Given the description of an element on the screen output the (x, y) to click on. 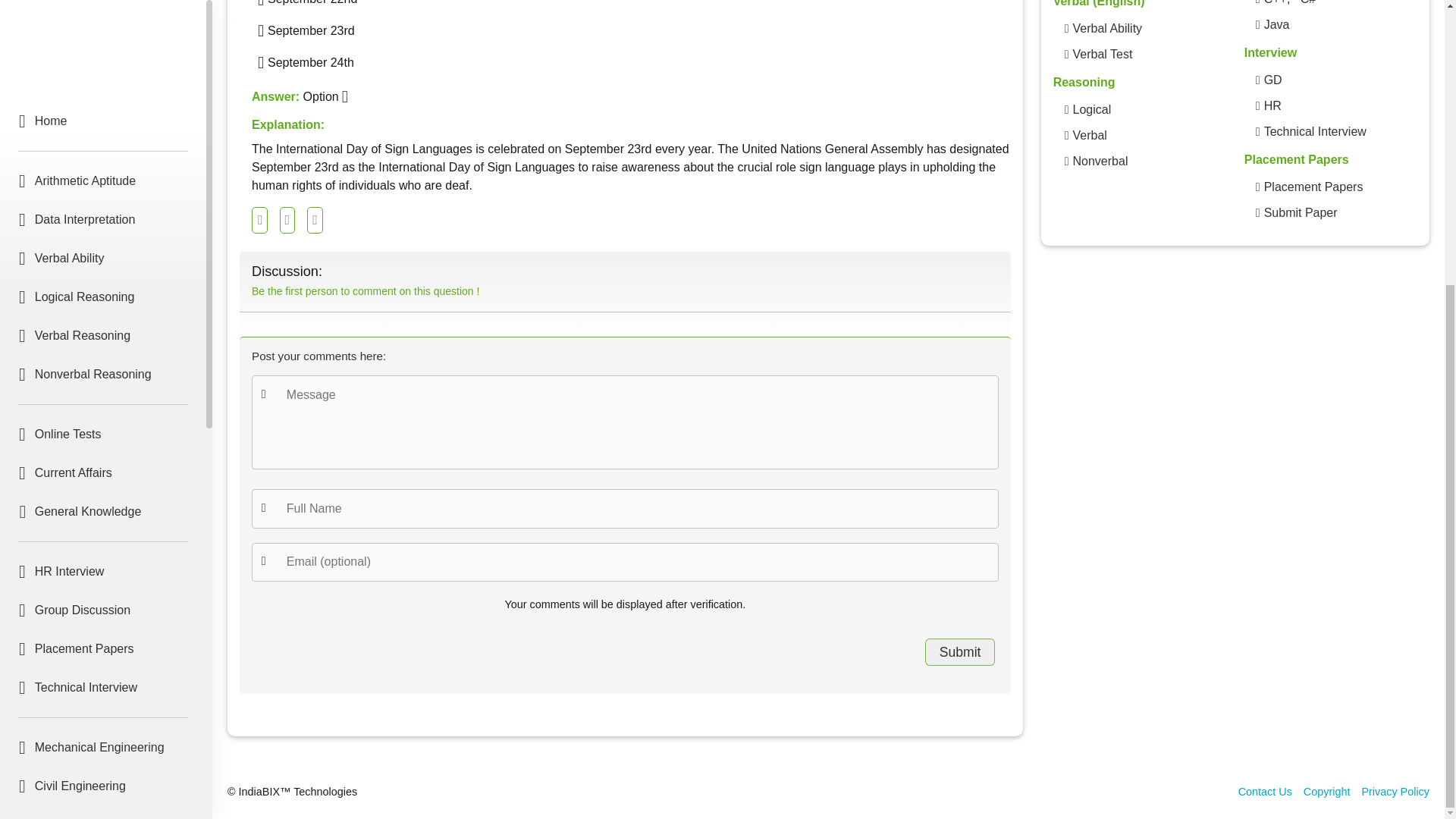
HR Interview (103, 141)
Placement Papers (103, 218)
Verbal Reasoning (1088, 135)
Current Affairs (103, 42)
Group Discussion (103, 180)
Civil Engineering (103, 356)
Technical Interview Questions (1315, 131)
CSE (103, 472)
General Knowledge (103, 81)
Nonverbal Reasoning (1098, 161)
